Given the description of an element on the screen output the (x, y) to click on. 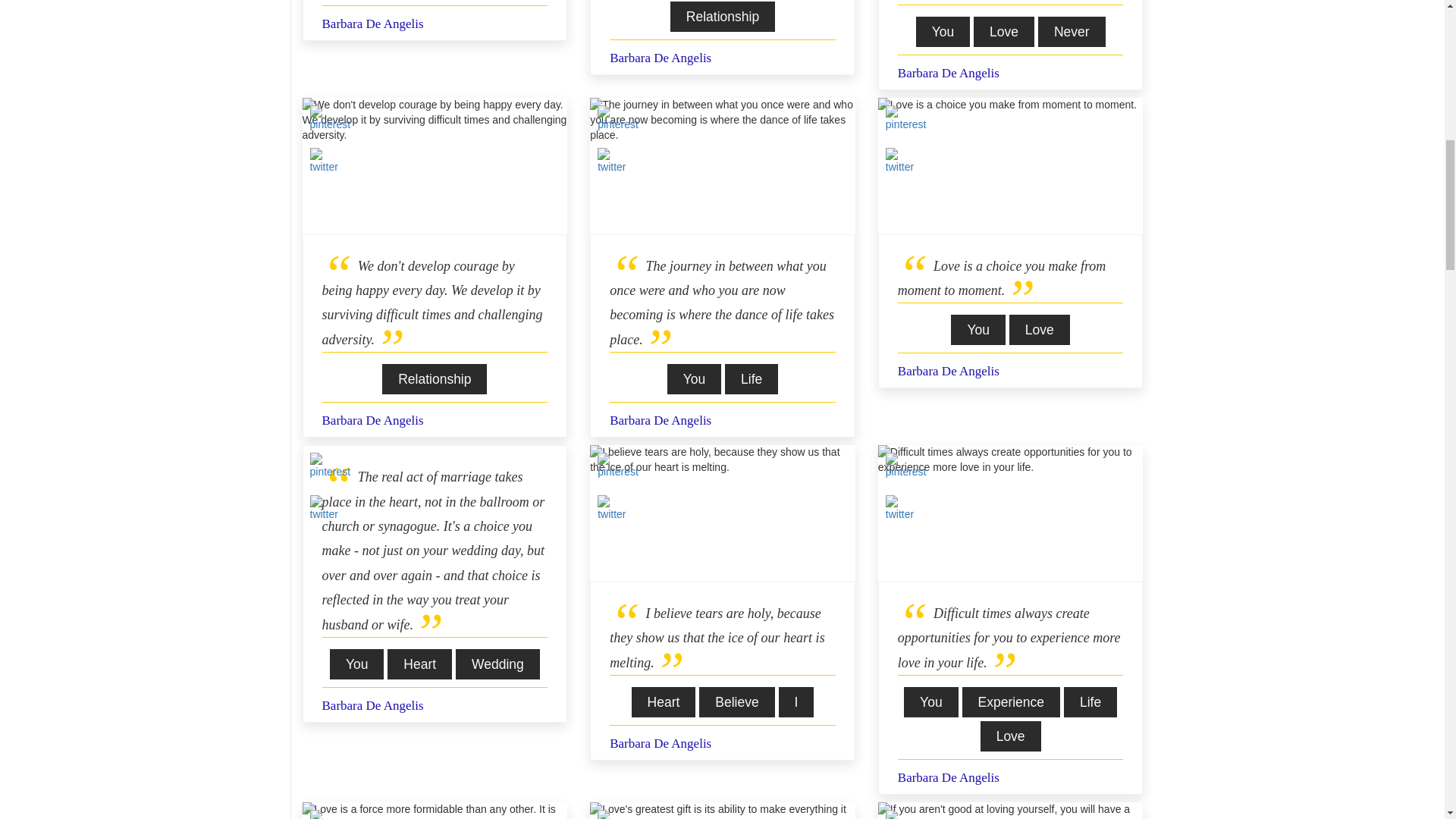
You (357, 664)
You (978, 329)
Love (1039, 329)
Relationship (433, 378)
Relationship (721, 16)
Heart (419, 664)
Never (1071, 31)
Heart (663, 702)
Life (751, 378)
You (694, 378)
Love (1003, 31)
Wedding (497, 664)
You (943, 31)
